Given the description of an element on the screen output the (x, y) to click on. 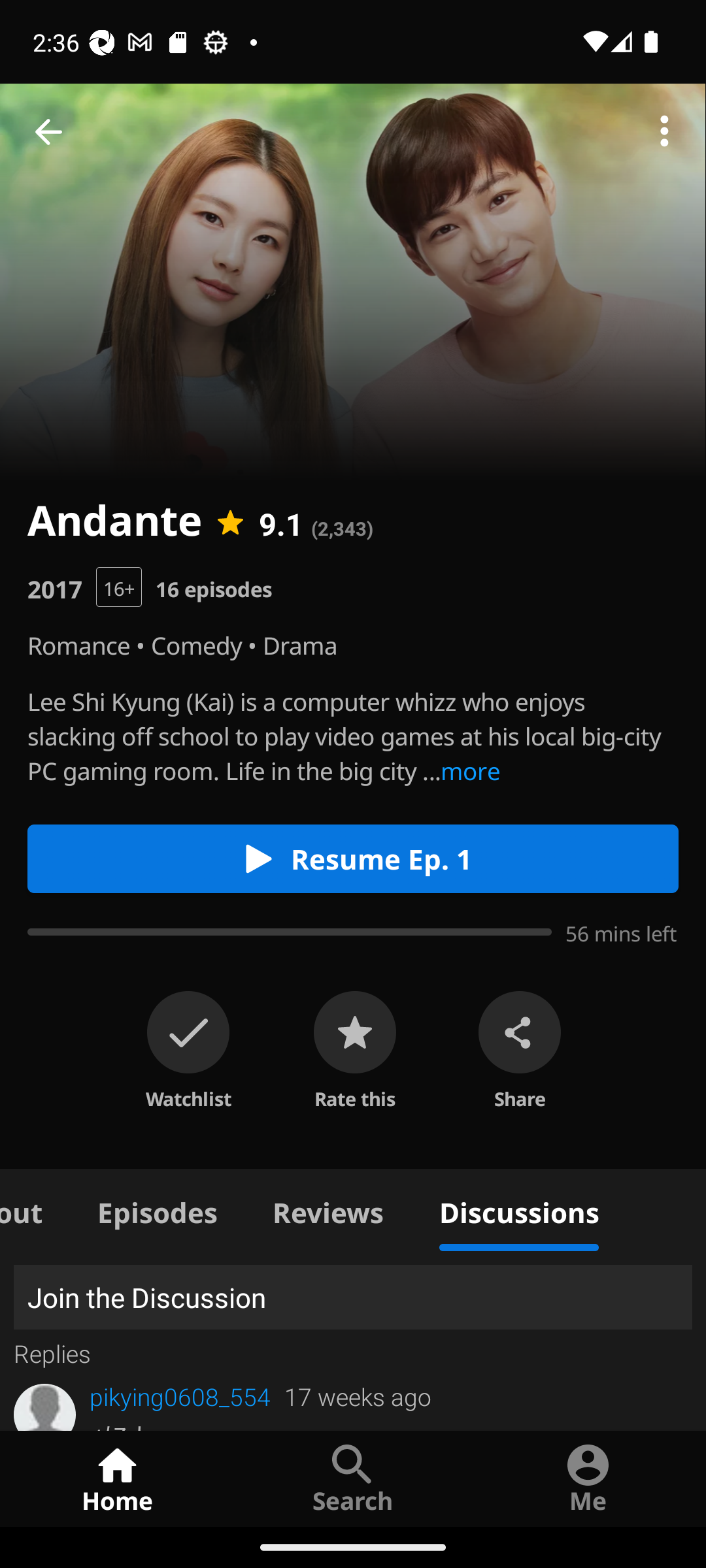
More (664, 131)
on (187, 1032)
Episodes (156, 1209)
Reviews (327, 1209)
Join the Discussion (352, 1297)
pikying0608_554 (179, 1396)
Search (352, 1478)
Me (588, 1478)
